Given the description of an element on the screen output the (x, y) to click on. 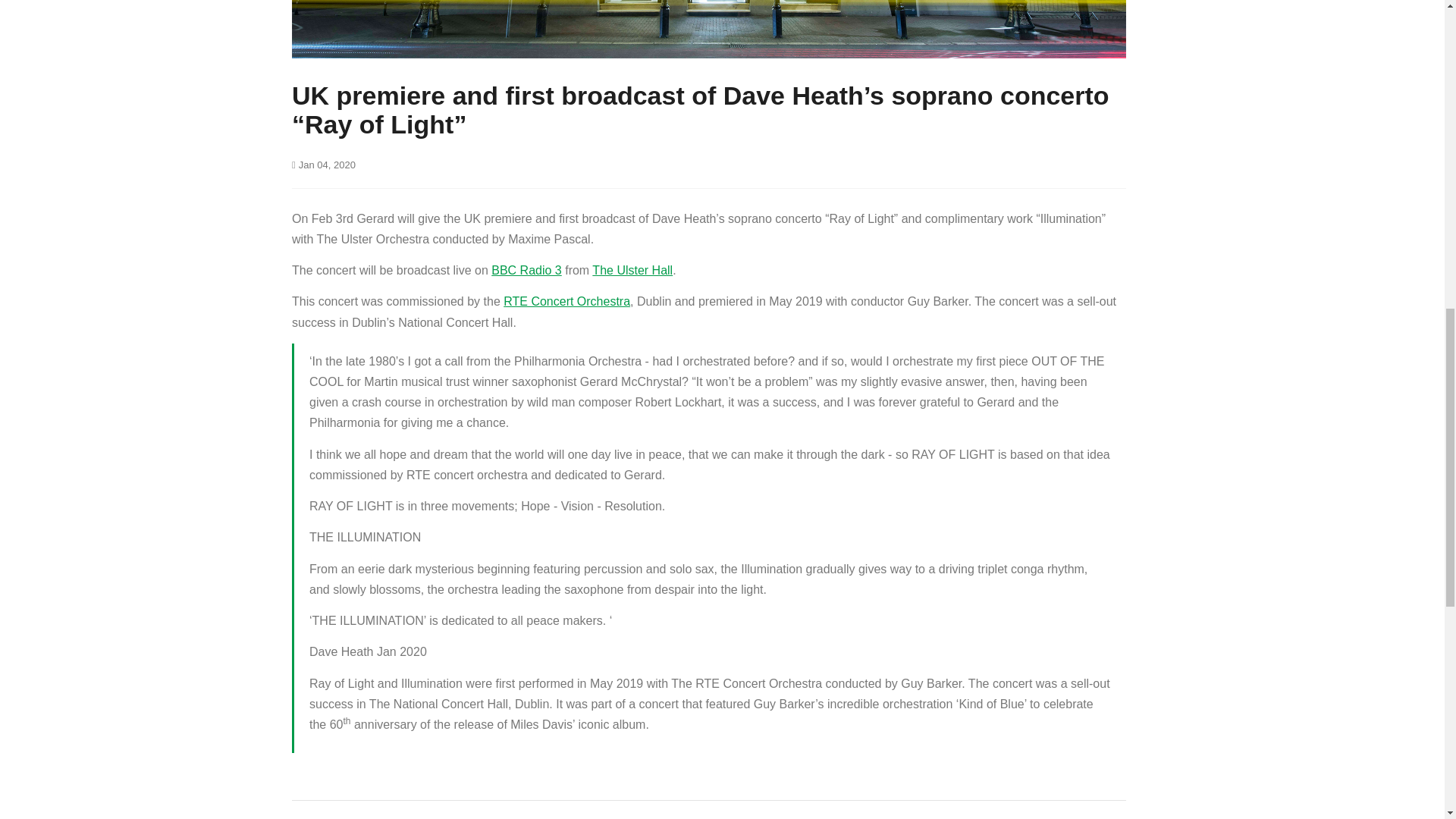
BBC Radio 3 (527, 269)
The Ulster Hall (632, 269)
RTE Concert Orchestra (566, 300)
